Given the description of an element on the screen output the (x, y) to click on. 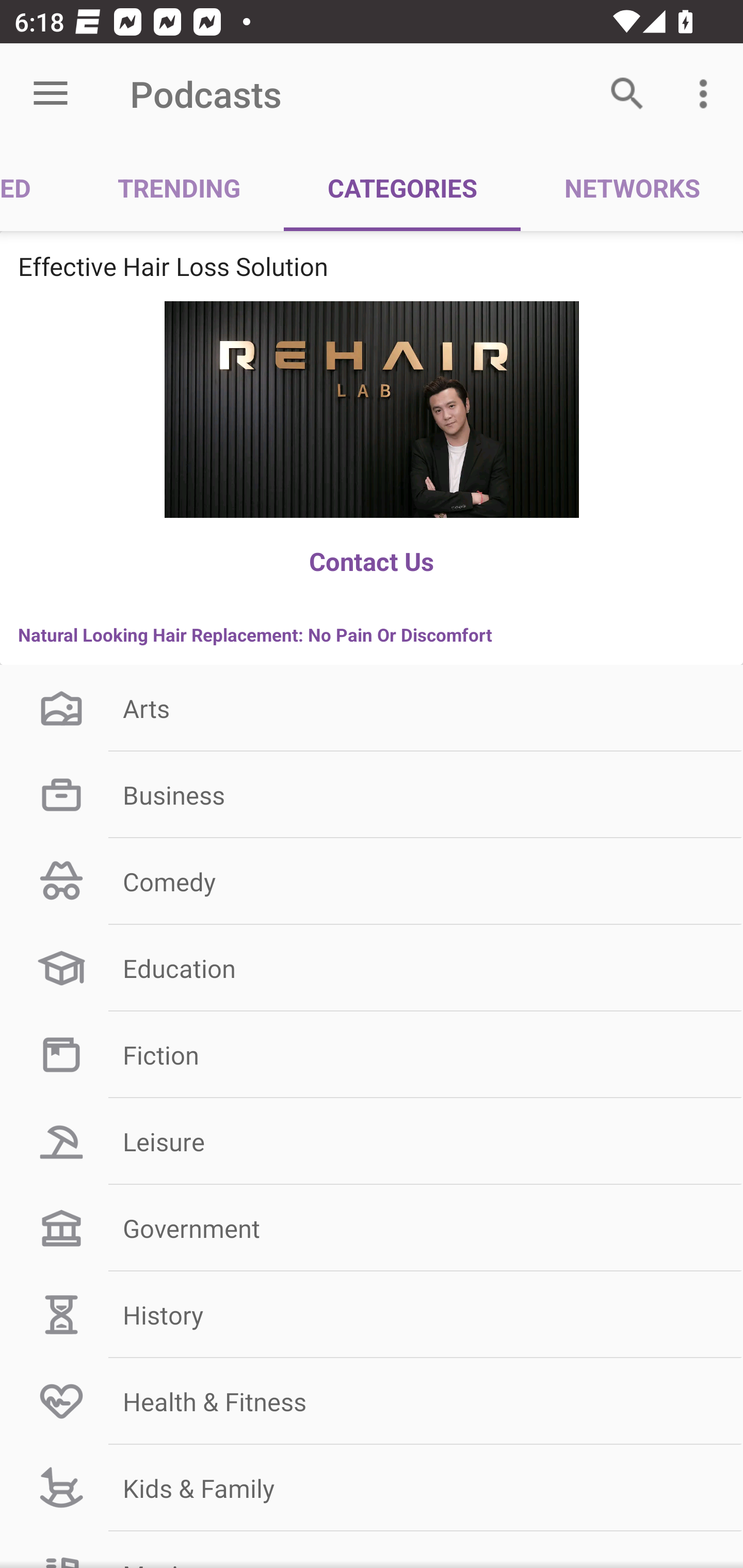
Open menu (50, 93)
Search (626, 93)
More options (706, 93)
TRENDING (178, 187)
CATEGORIES (401, 187)
NETWORKS (631, 187)
Effective Hair Loss Solution (371, 266)
Contact Us (371, 561)
Arts (371, 707)
Business (371, 794)
Comedy (371, 881)
Education (371, 968)
Fiction (371, 1054)
Leisure (371, 1141)
Government (371, 1228)
History (371, 1314)
Health & Fitness (371, 1400)
Kids & Family (371, 1487)
